Given the description of an element on the screen output the (x, y) to click on. 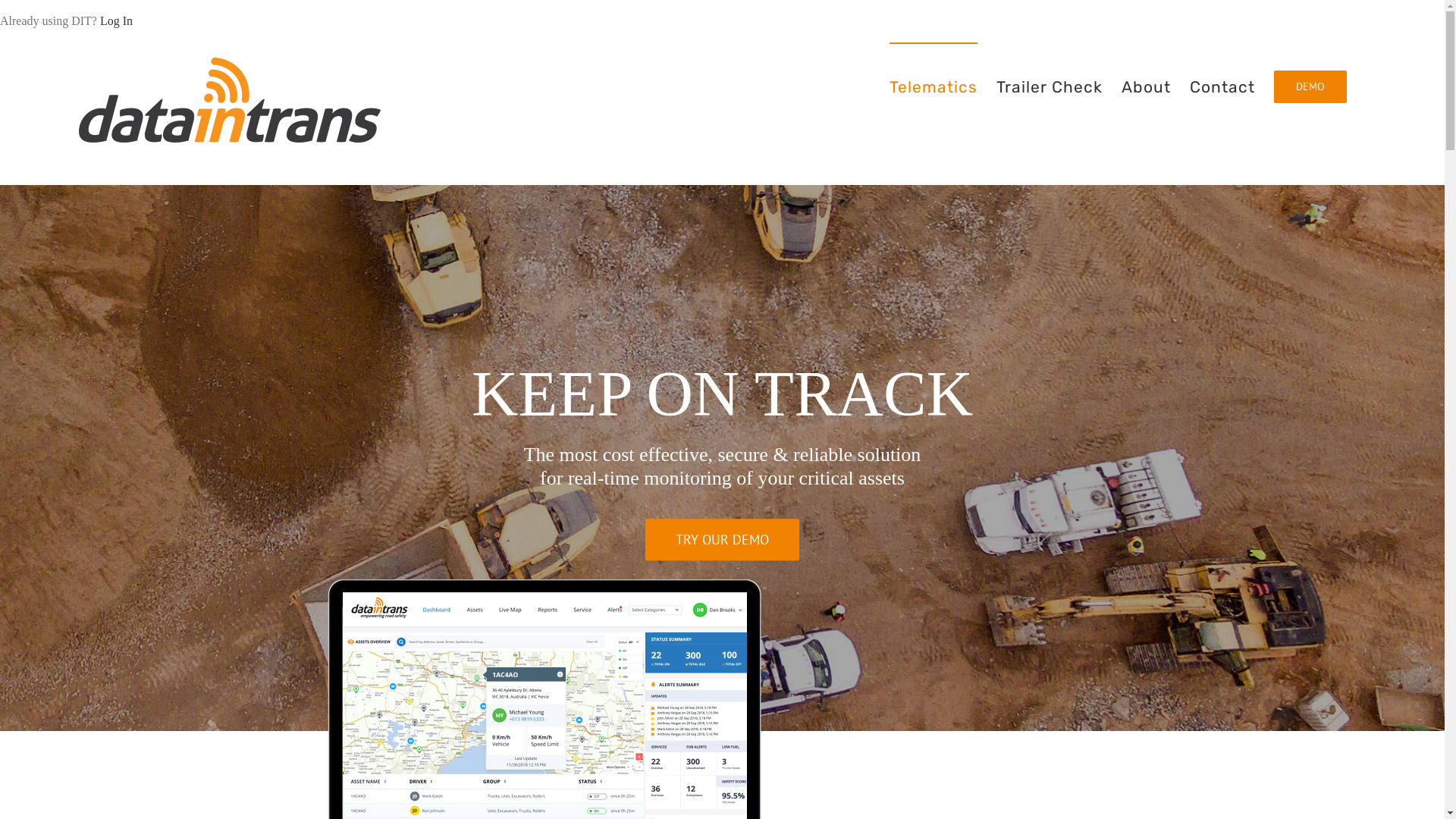
Trailer Check Element type: text (1049, 85)
DEMO Element type: text (1310, 85)
Telematics Element type: text (933, 85)
Contact Element type: text (1222, 85)
About Element type: text (1145, 85)
TRY OUR DEMO Element type: text (722, 540)
Log In Element type: text (116, 20)
